Given the description of an element on the screen output the (x, y) to click on. 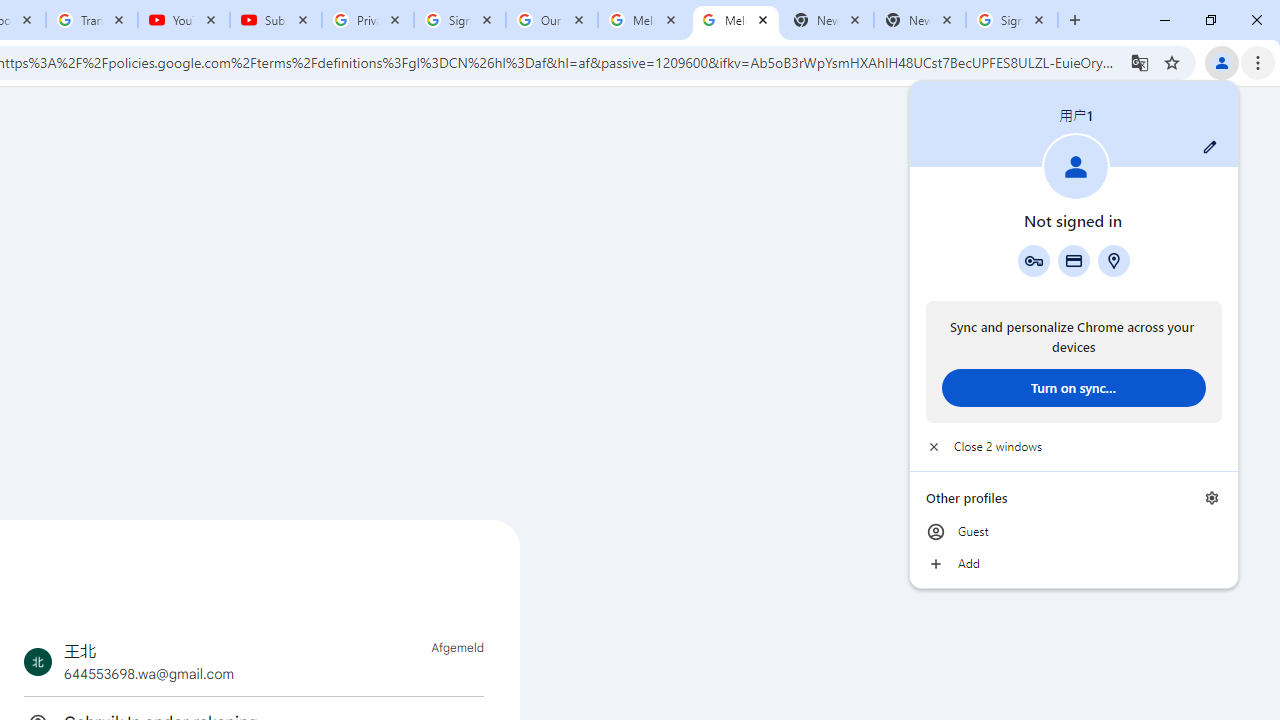
Translate this page (1139, 62)
Sign in - Google Accounts (459, 20)
Guest (1073, 531)
Google Password Manager (1033, 260)
Payment methods (1074, 260)
Close 2 windows (1073, 446)
